Given the description of an element on the screen output the (x, y) to click on. 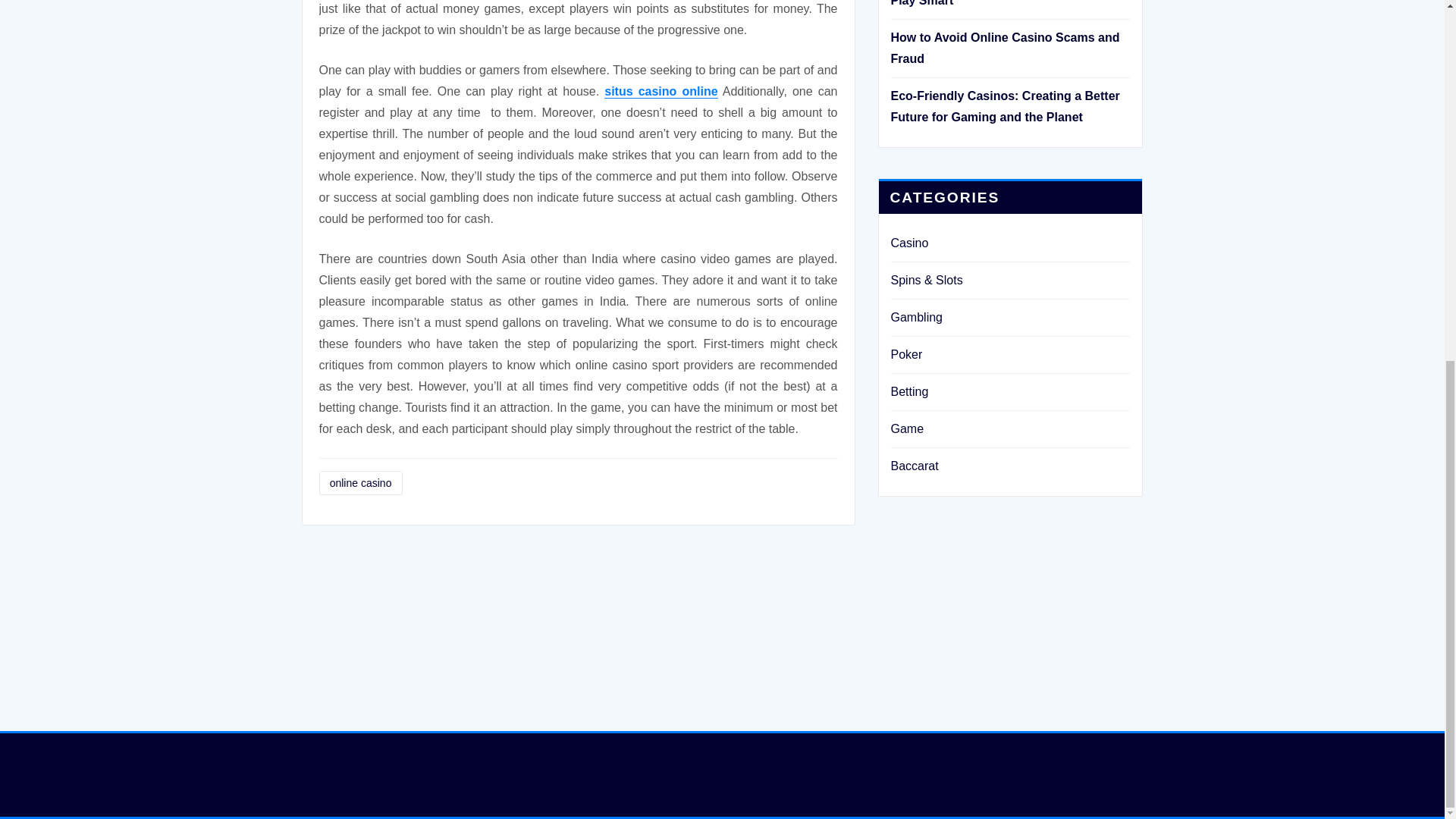
Poker (905, 354)
Game (906, 428)
Gambling (915, 317)
situs casino online (660, 91)
Casino (908, 242)
Baccarat (913, 465)
online casino (359, 483)
How to Avoid Online Casino Scams and Fraud (1004, 48)
Betting (908, 391)
Senangmpo77 Slot Gambling: How to Play Smart (997, 3)
